Given the description of an element on the screen output the (x, y) to click on. 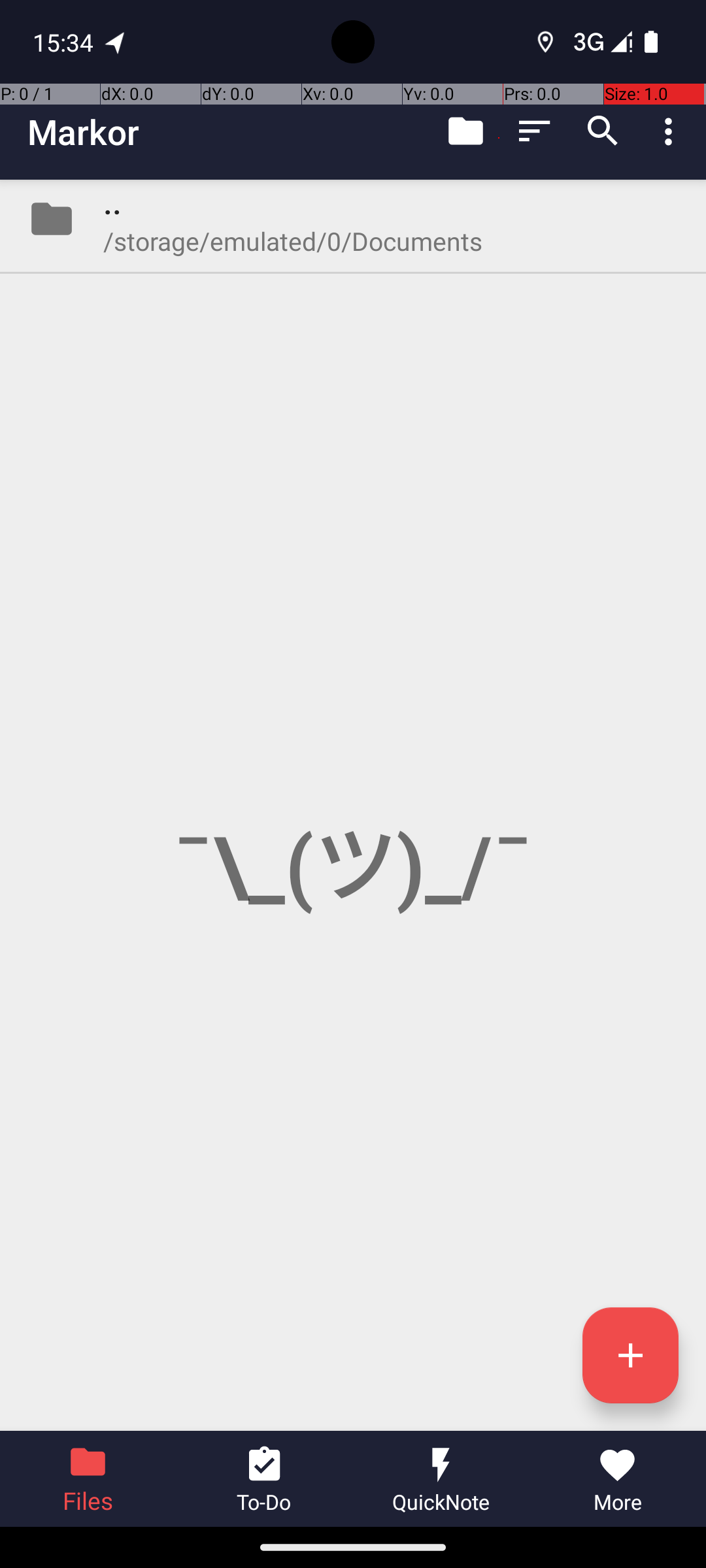
¯\_(ツ)_/¯ Element type: android.widget.TextView (353, 804)
